Given the description of an element on the screen output the (x, y) to click on. 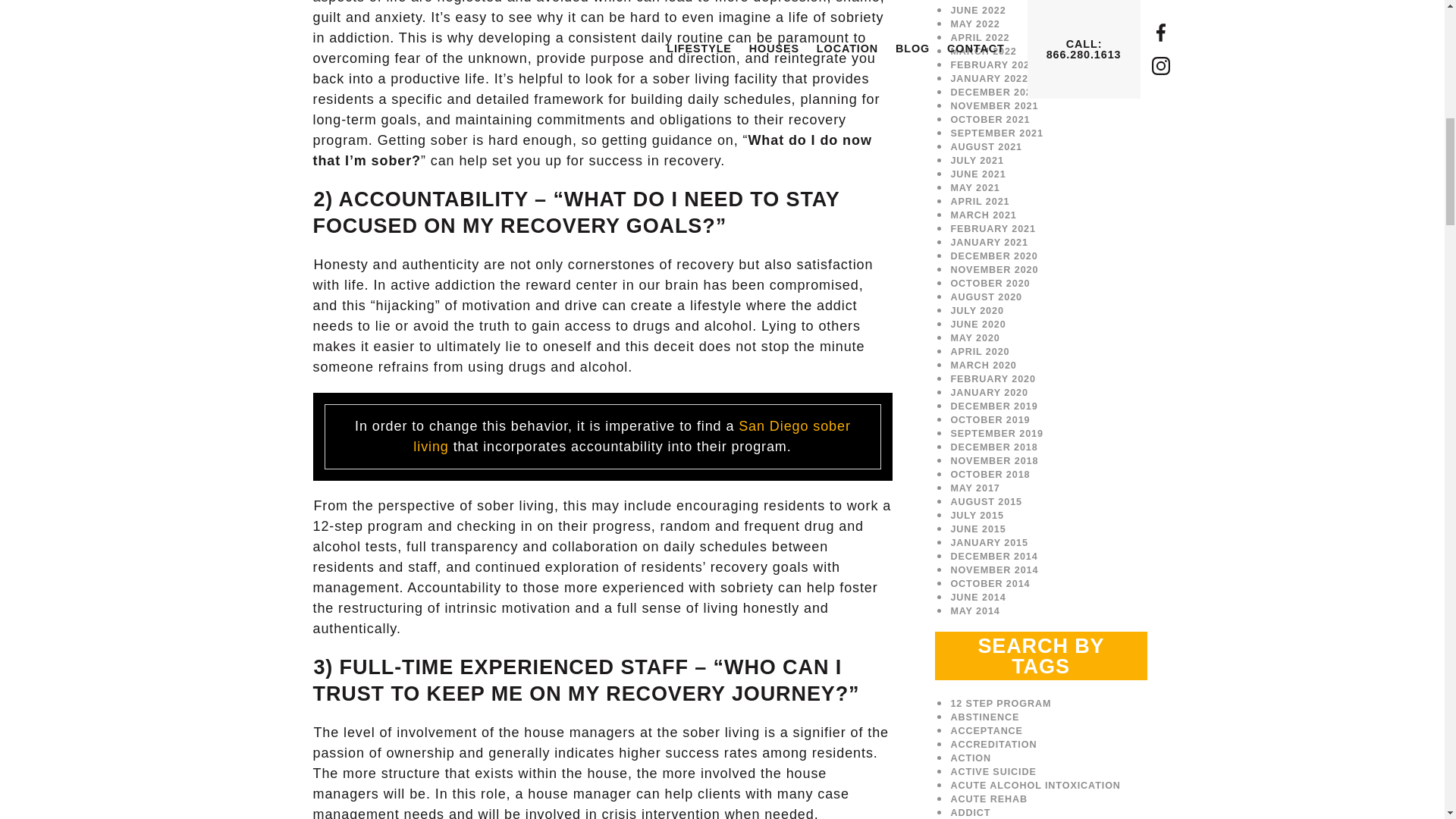
JUNE 2022 (978, 9)
active suicide (992, 771)
addict (970, 812)
JULY 2022 (976, 1)
action (970, 757)
acceptance (986, 730)
acute rehab (988, 798)
San Diego sober living (631, 436)
abstinence (984, 716)
Acute alcohol intoxication (1034, 785)
12 step program (1000, 703)
accreditation (993, 744)
